Given the description of an element on the screen output the (x, y) to click on. 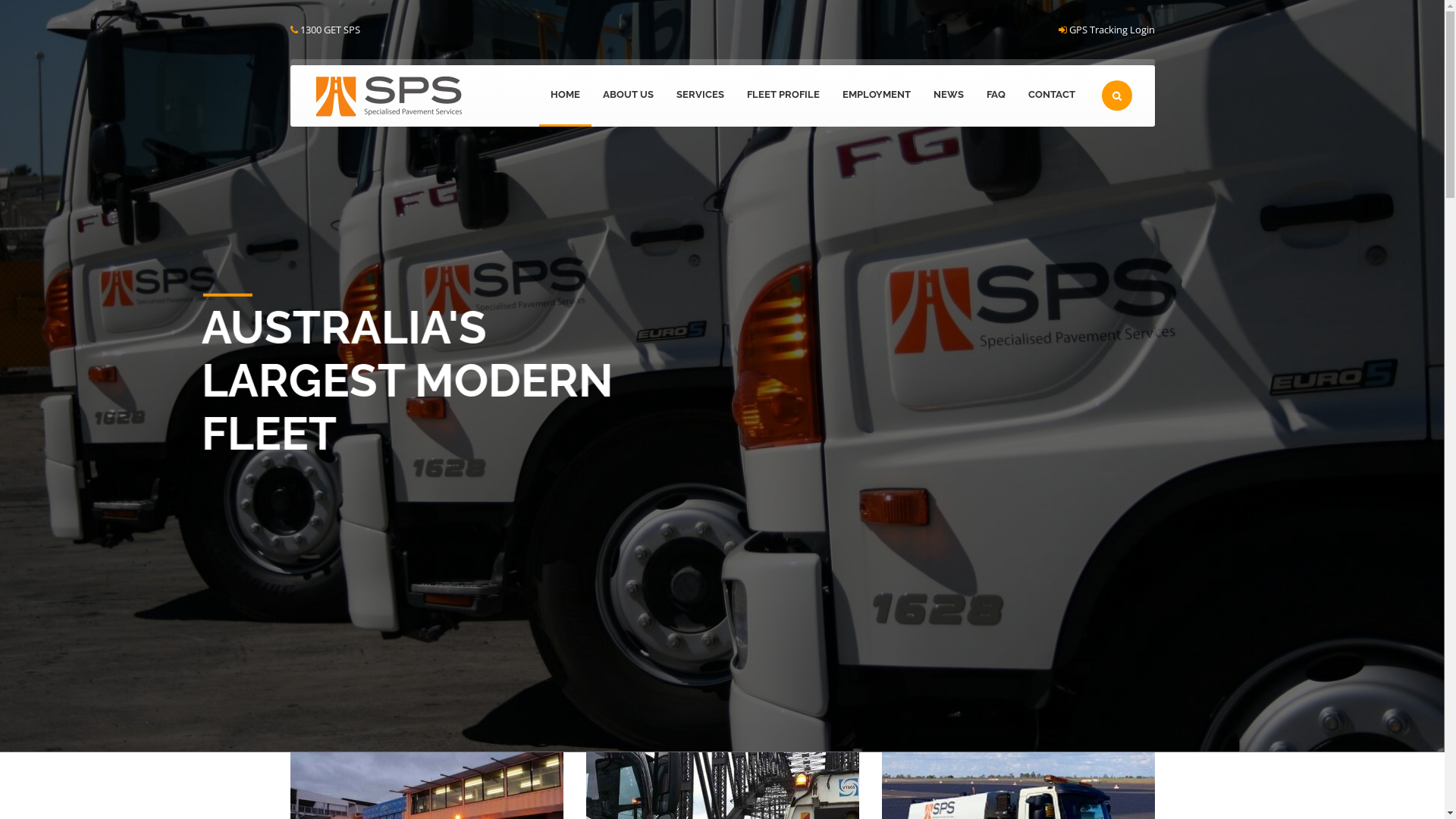
CONTACT Element type: text (1050, 95)
EMPLOYMENT Element type: text (876, 95)
1300 GET SPS Element type: text (330, 29)
ABOUT US Element type: text (628, 95)
NEWS Element type: text (948, 95)
FAQ Element type: text (995, 95)
GPS Tracking Login Element type: text (1111, 29)
HOME Element type: text (564, 95)
FLEET PROFILE Element type: text (783, 95)
SERVICES Element type: text (699, 95)
